Given the description of an element on the screen output the (x, y) to click on. 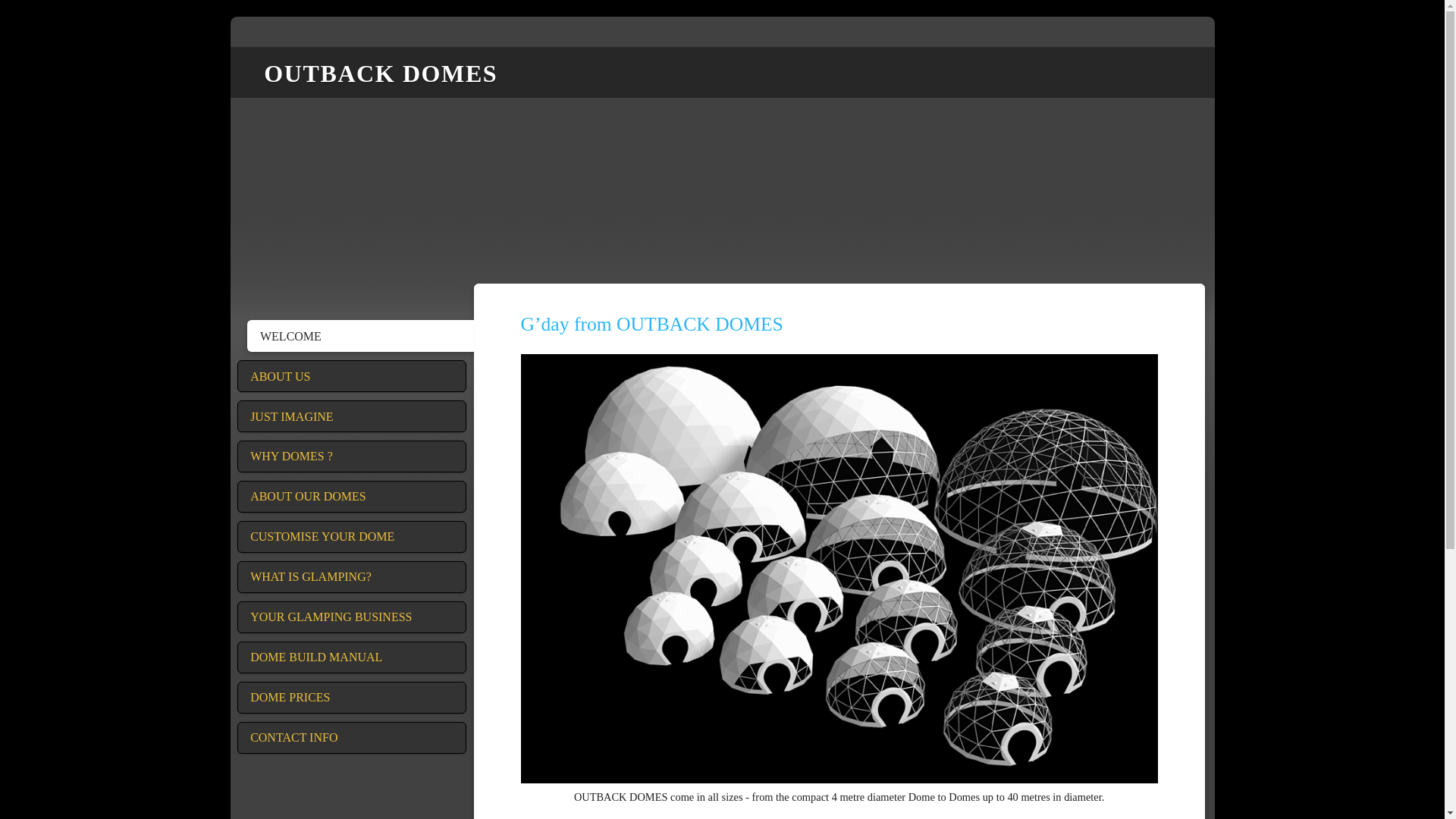
ABOUT OUR DOMES (351, 496)
JUST IMAGINE (351, 416)
WELCOME (360, 336)
CUSTOMISE YOUR DOME (351, 536)
ABOUT US (351, 376)
WHAT IS GLAMPING? (351, 576)
YOUR GLAMPING BUSINESS (351, 617)
DOME PRICES (351, 697)
DOME BUILD MANUAL (351, 657)
WHY DOMES ? (351, 456)
